Given the description of an element on the screen output the (x, y) to click on. 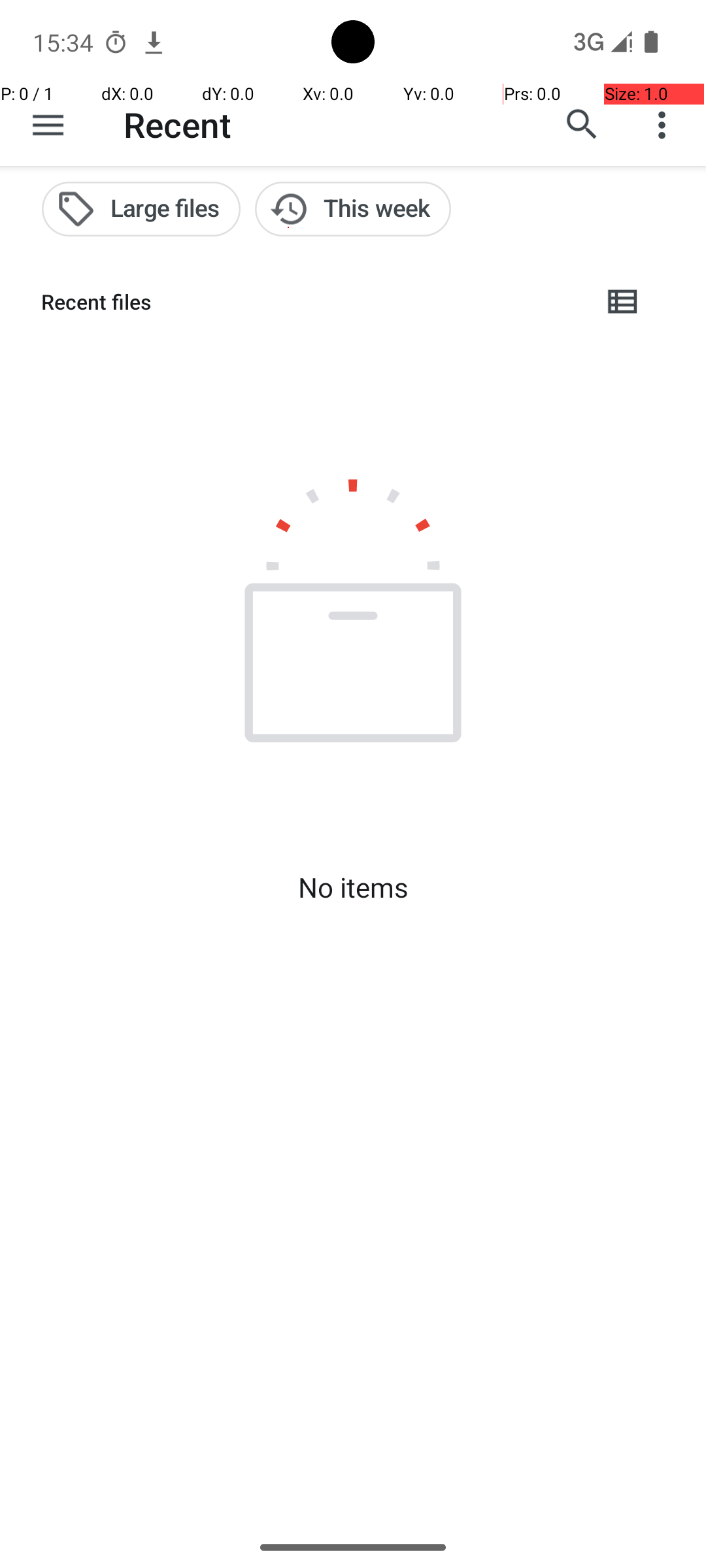
Chrome notification: www.espn.com Element type: android.widget.ImageView (153, 41)
